Given the description of an element on the screen output the (x, y) to click on. 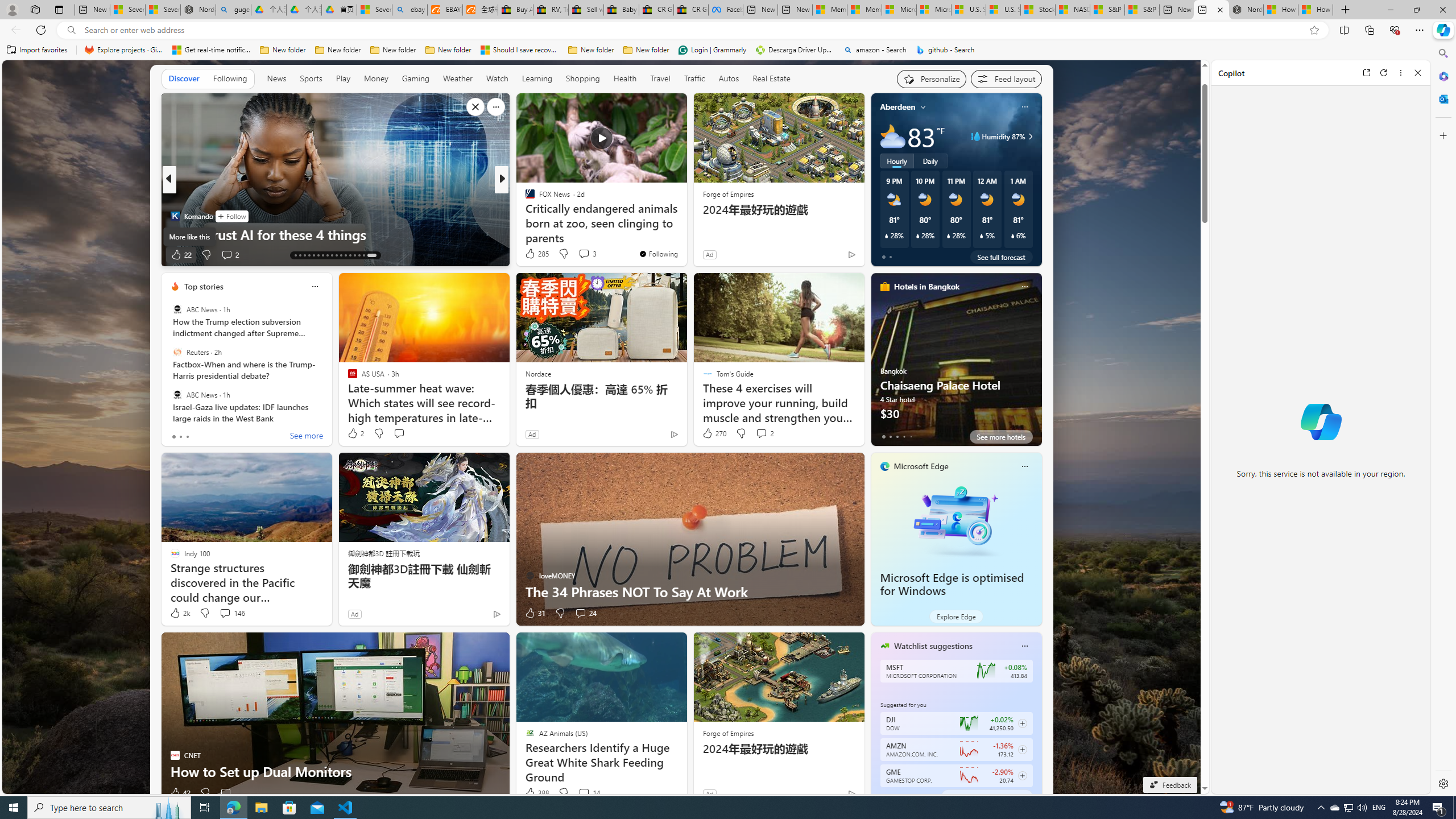
AutomationID: tab-39 (354, 255)
Komando (174, 215)
Shopping (582, 78)
AutomationID: tab-42 (371, 255)
Gaming (415, 79)
S&P 500, Nasdaq end lower, weighed by Nvidia dip | Watch (1141, 9)
Microsoft Edge is optimised for Windows (955, 519)
Dislike (563, 792)
